Given the description of an element on the screen output the (x, y) to click on. 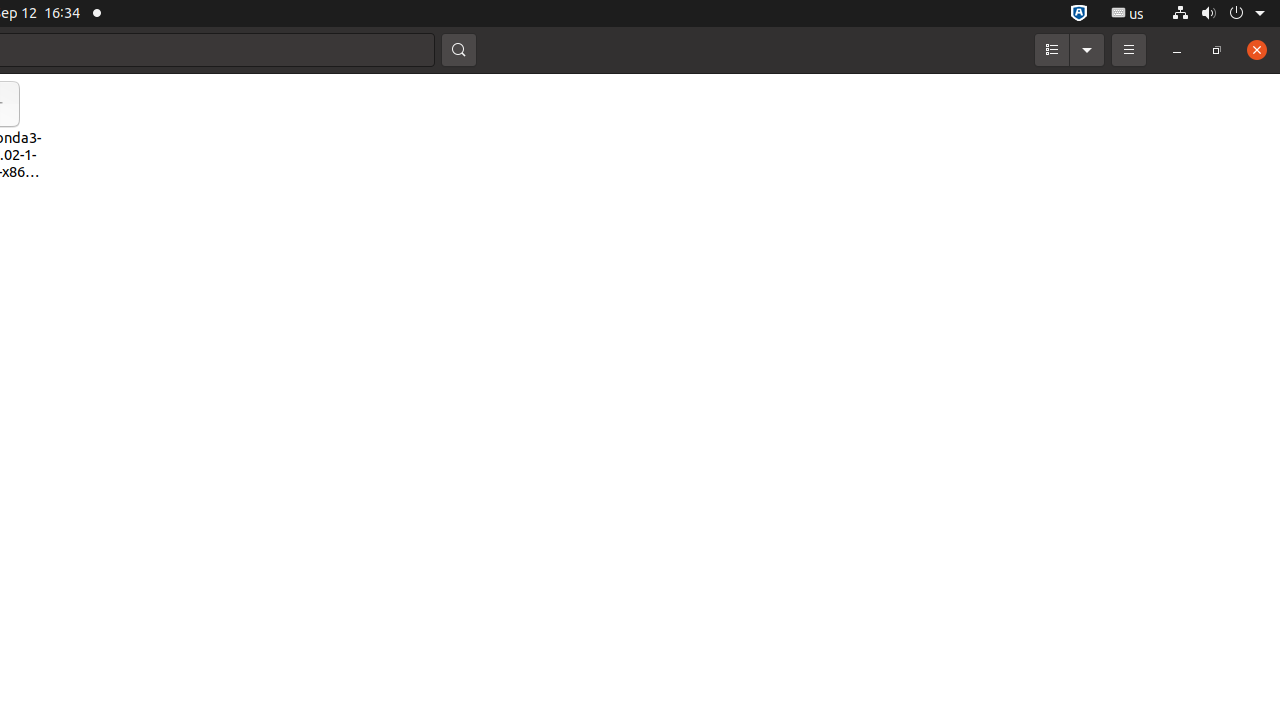
Restore Element type: push-button (1217, 50)
Minimize Element type: push-button (1177, 50)
Close Element type: push-button (1257, 50)
